Given the description of an element on the screen output the (x, y) to click on. 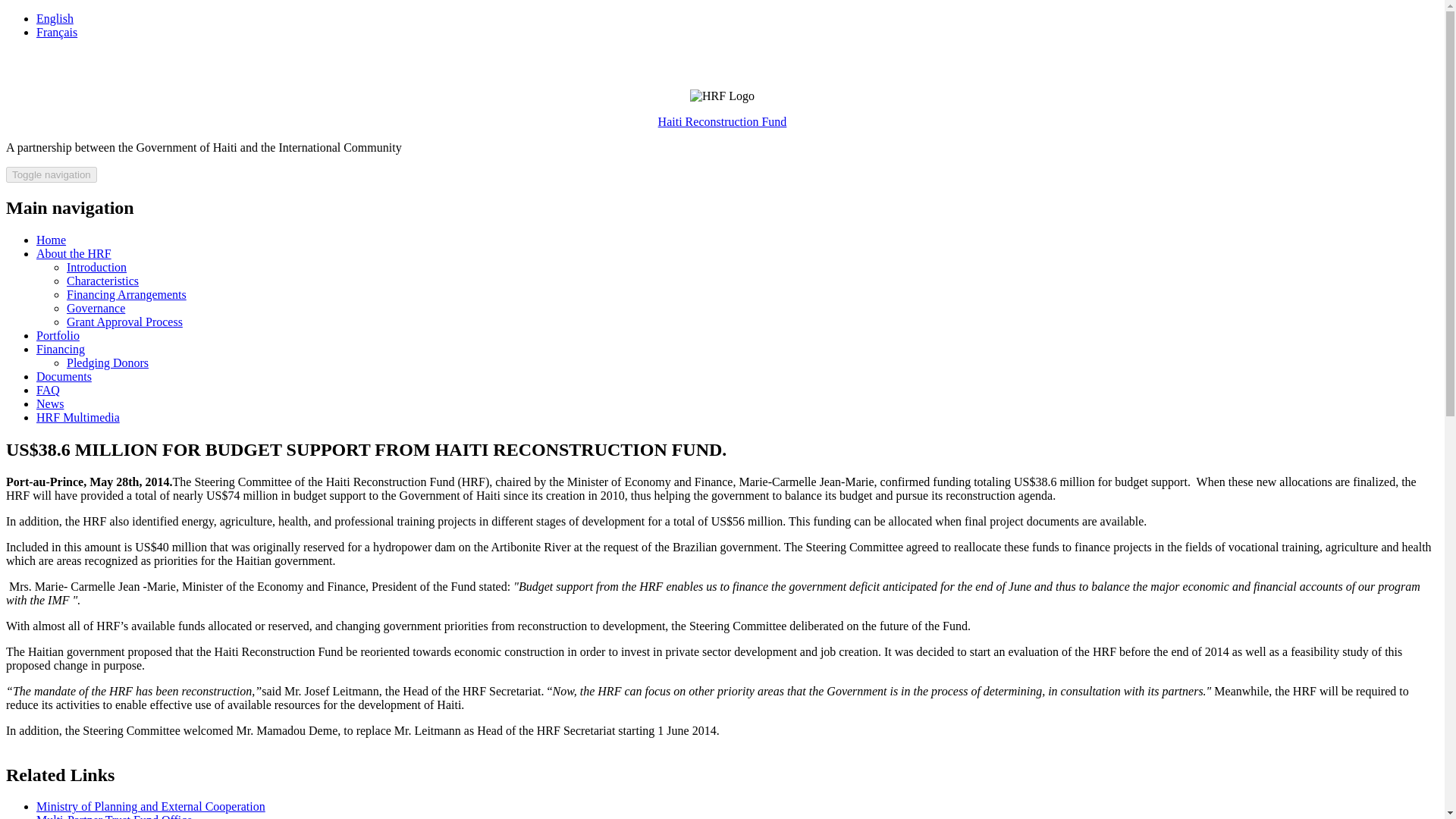
HRF Multimedia (77, 417)
Financing Arrangements (126, 294)
Governance (95, 308)
News (50, 403)
Documents (63, 376)
Portfolio (58, 335)
Haiti Reconstruction Fund (722, 121)
About the HRF (74, 253)
Home (722, 121)
